Given the description of an element on the screen output the (x, y) to click on. 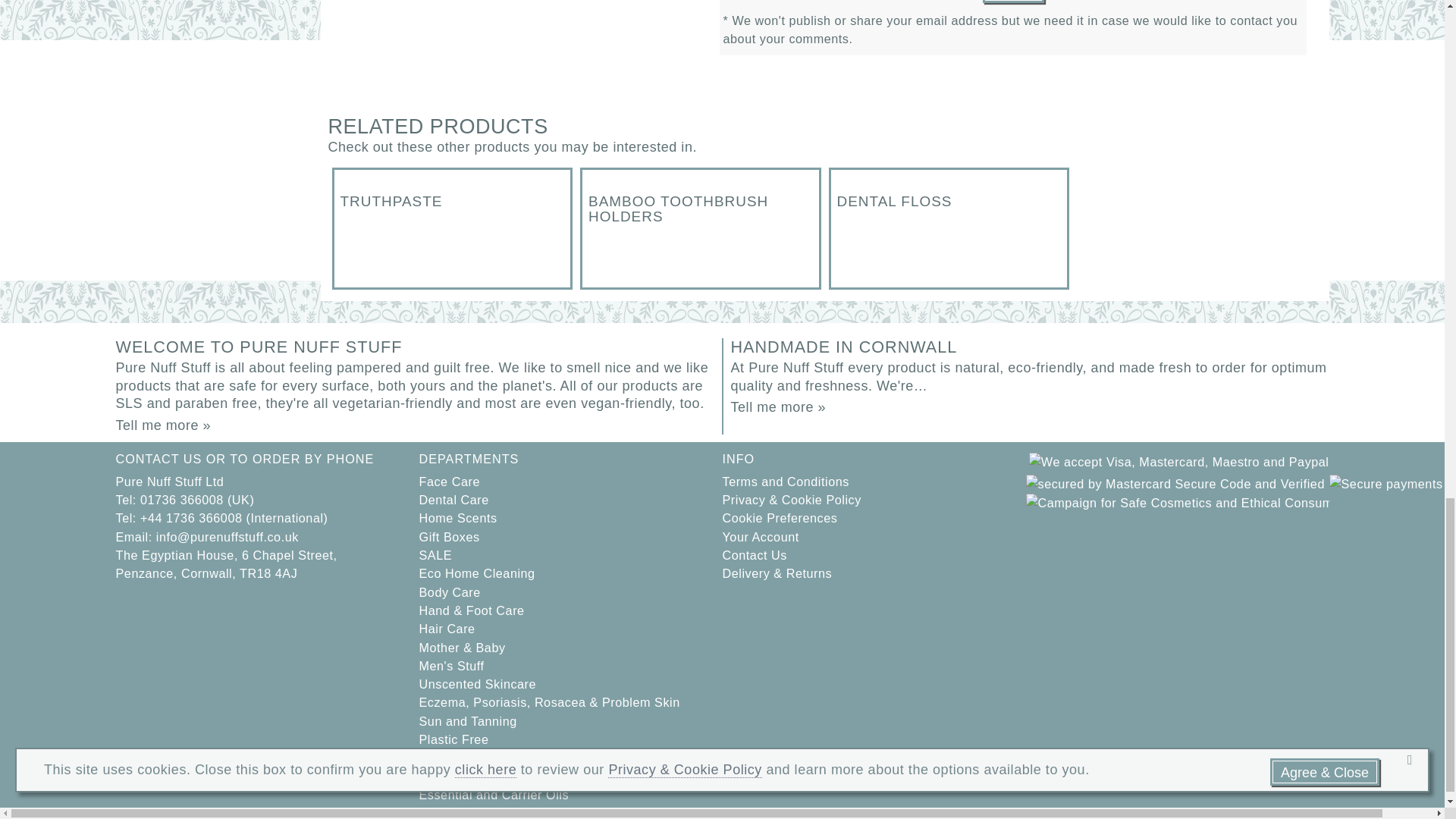
Dental Floss  (949, 227)
About Us (163, 425)
review (1012, 0)
Truthpaste (451, 227)
Handmade in Cornwall (778, 406)
Bamboo Toothbrush Holders  (700, 227)
